Given the description of an element on the screen output the (x, y) to click on. 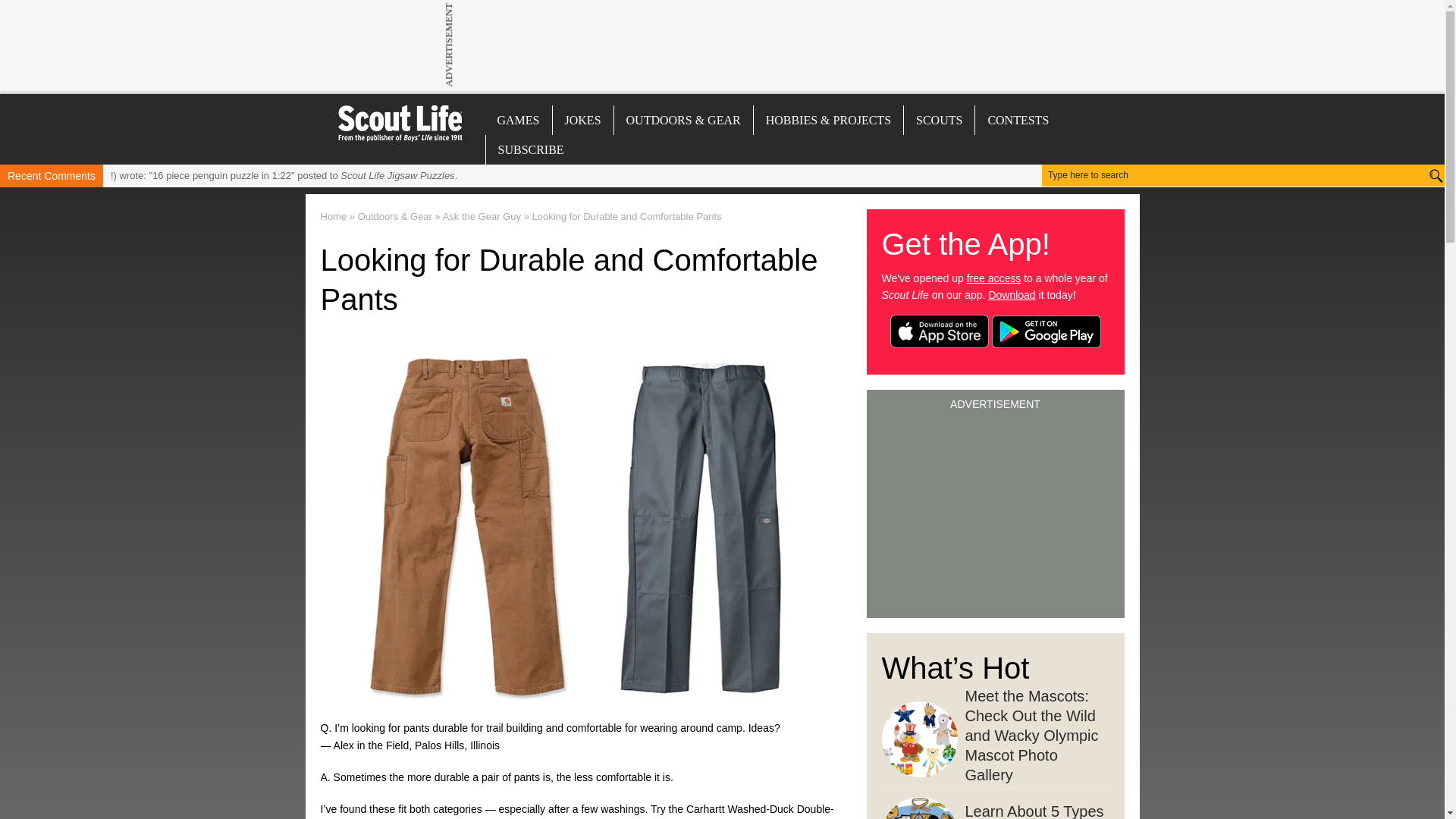
CONTESTS (1018, 120)
GAMES (517, 120)
SCOUTS (939, 120)
3rd party ad content (994, 507)
JOKES (582, 120)
Learn About 5 Types of Leather Used in Leatherworking (994, 804)
3rd party ad content (721, 44)
SUBSCRIBE (529, 149)
Type here to search (1216, 175)
